Given the description of an element on the screen output the (x, y) to click on. 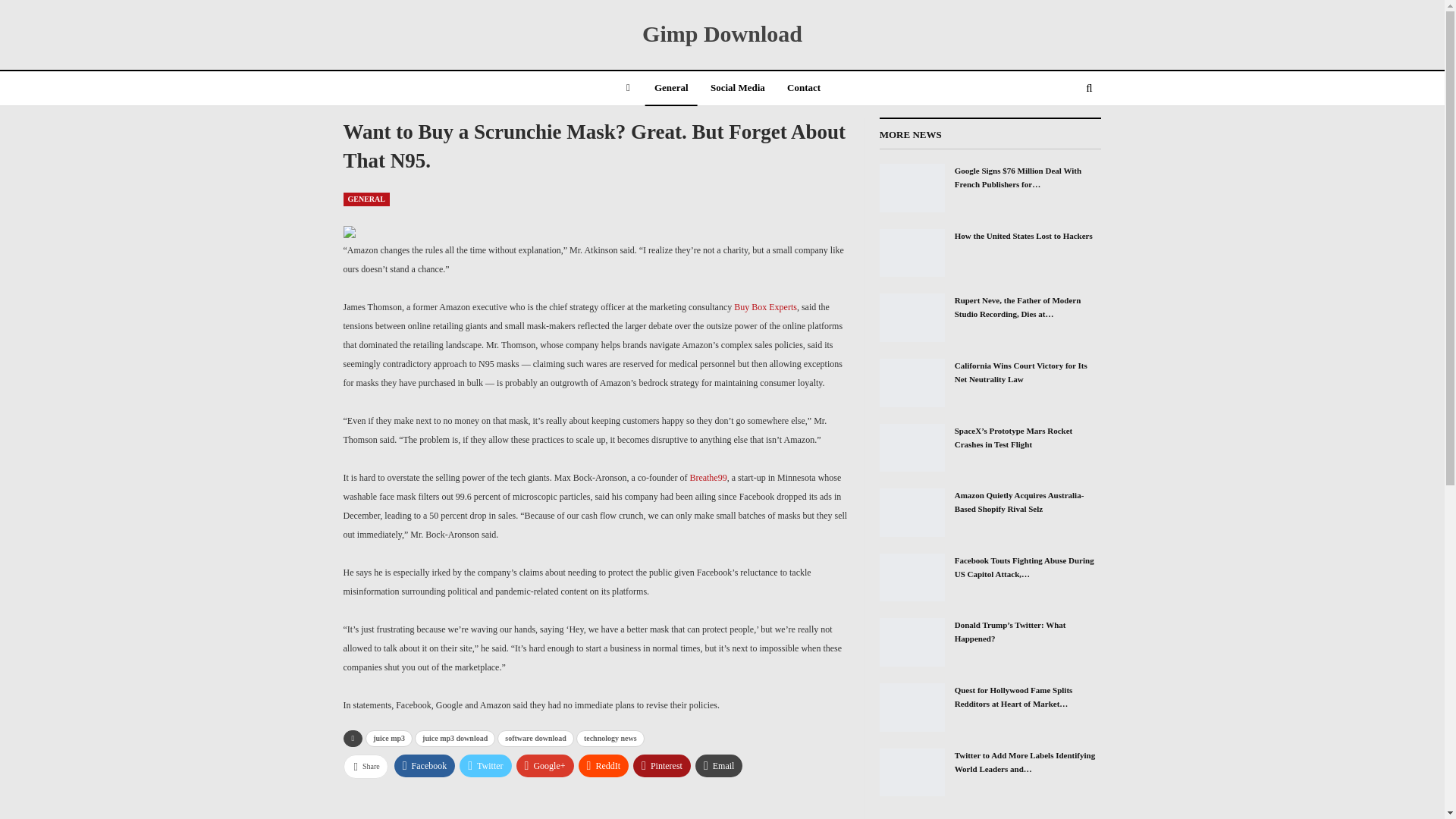
Contact (803, 89)
California Wins Court Victory for Its Net Neutrality Law (911, 382)
Buy Box Experts (764, 307)
Twitter (485, 765)
ReddIt (603, 765)
How the United States Lost to Hackers (911, 253)
technology news (610, 738)
Breathe99 (707, 477)
Email (718, 765)
